Given the description of an element on the screen output the (x, y) to click on. 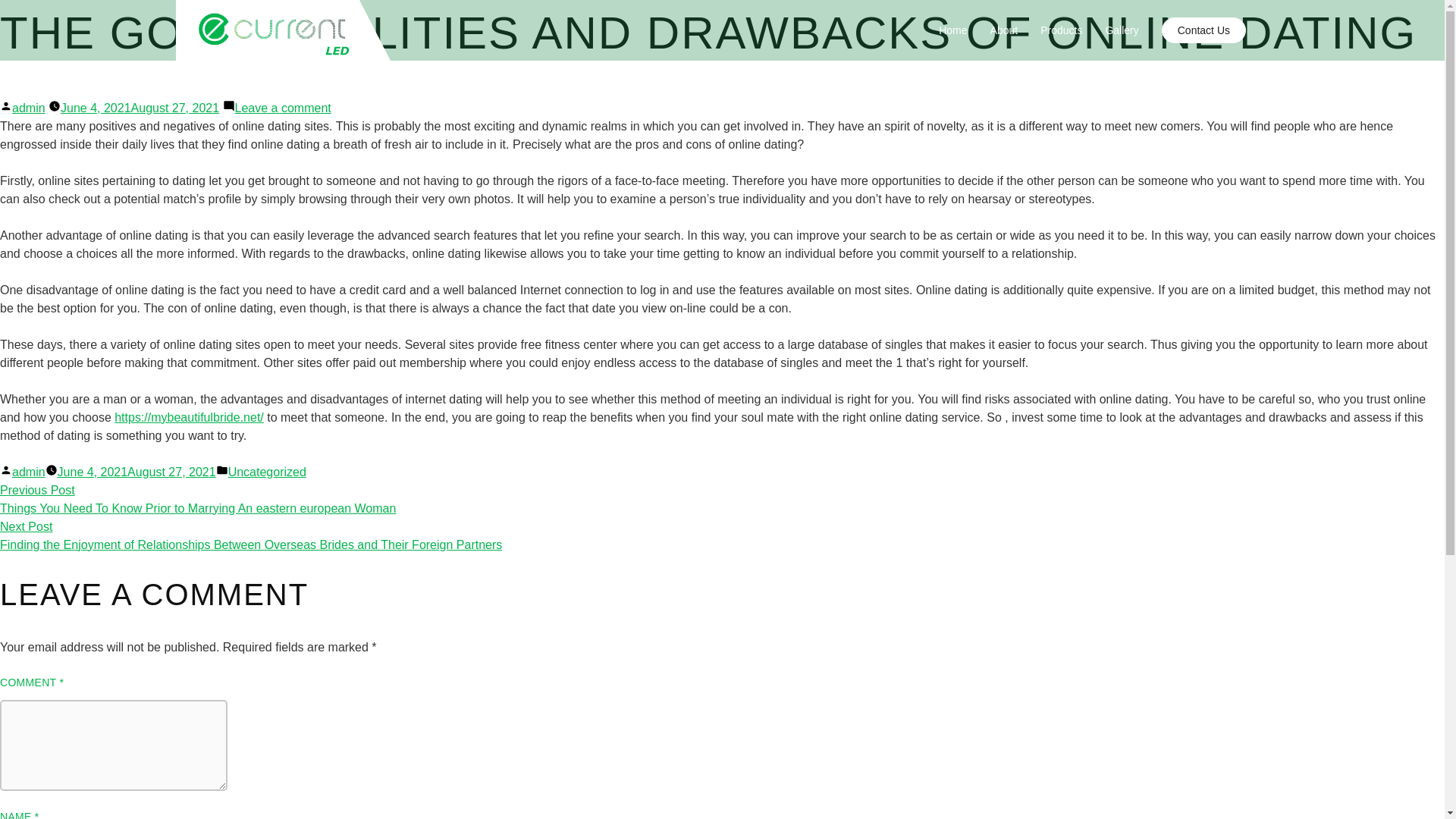
Products (1061, 30)
About (1003, 30)
admin (28, 472)
Uncategorized (266, 472)
admin (28, 107)
June 4, 2021August 27, 2021 (140, 107)
Gallery (1121, 30)
Contact Us (1203, 30)
Home (952, 30)
June 4, 2021August 27, 2021 (136, 472)
